Given the description of an element on the screen output the (x, y) to click on. 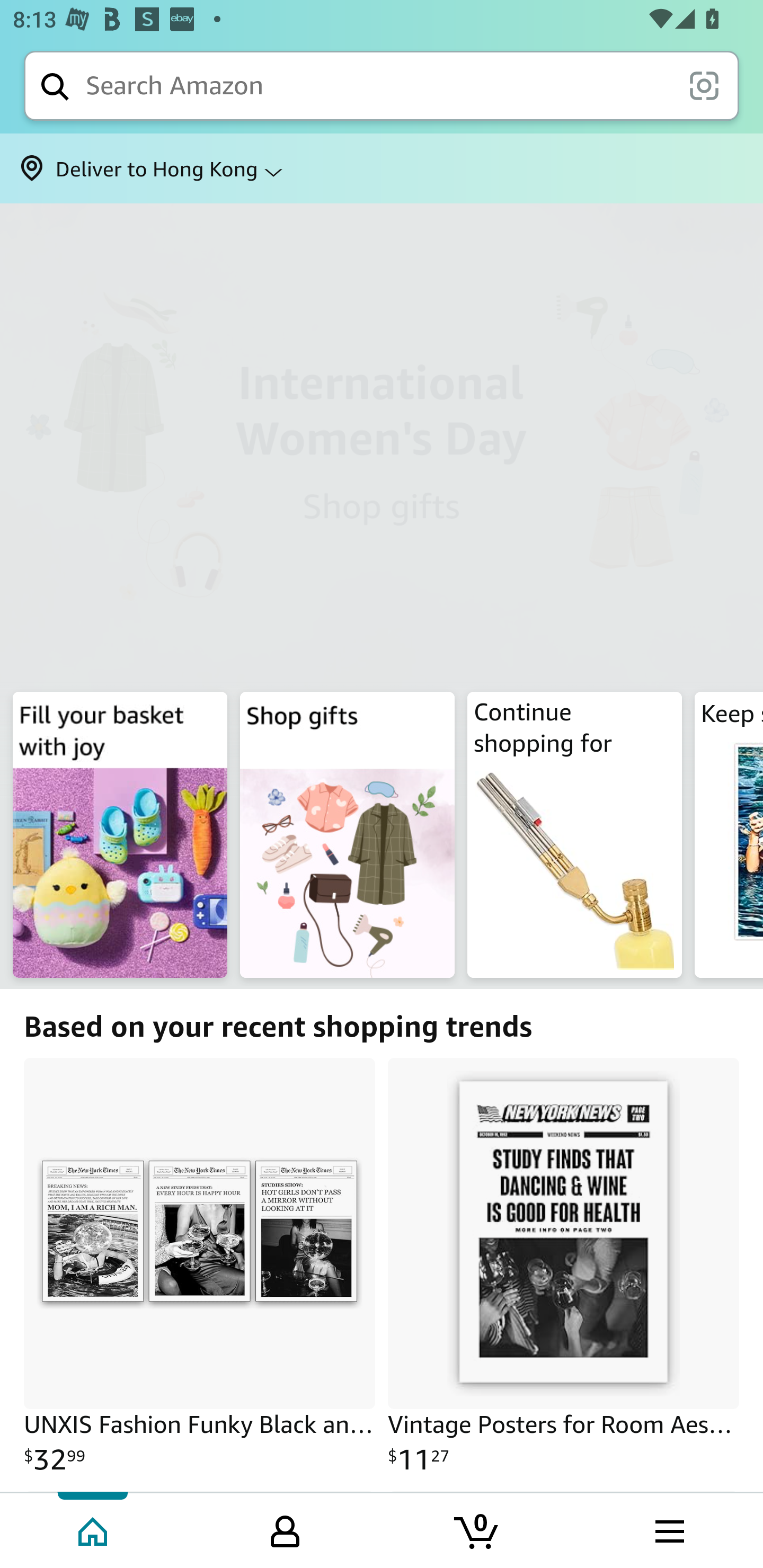
Search Search Search Amazon scan it (381, 85)
scan it (704, 85)
Deliver to Hong Kong ⌵ (381, 168)
Fill your basket with joy (381, 444)
Home Tab 1 of 4 (94, 1529)
Your Amazon.com Tab 2 of 4 (285, 1529)
Cart 0 item Tab 3 of 4 0 (477, 1529)
Browse menu Tab 4 of 4 (668, 1529)
